Given the description of an element on the screen output the (x, y) to click on. 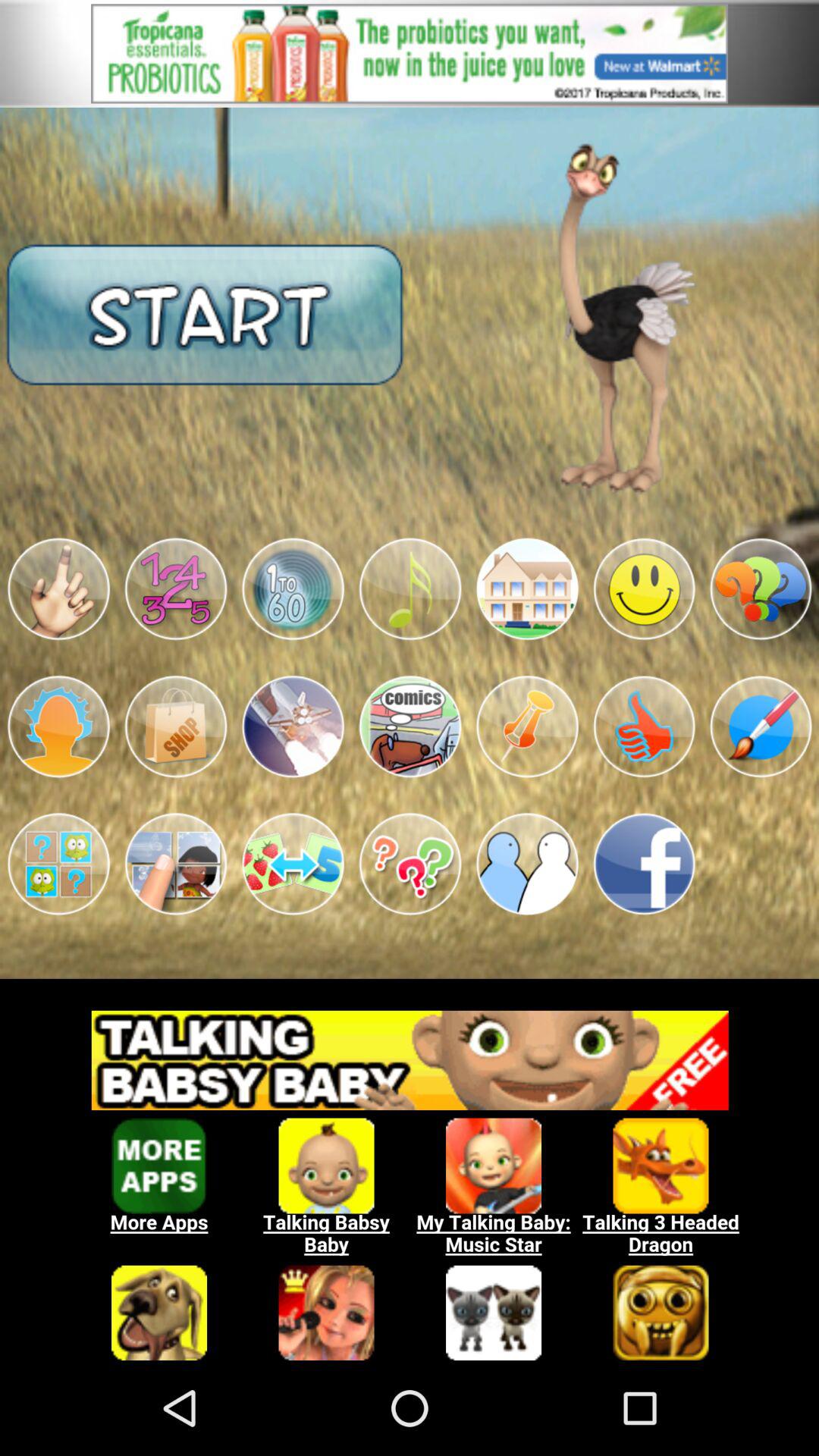
like the article (643, 726)
